Given the description of an element on the screen output the (x, y) to click on. 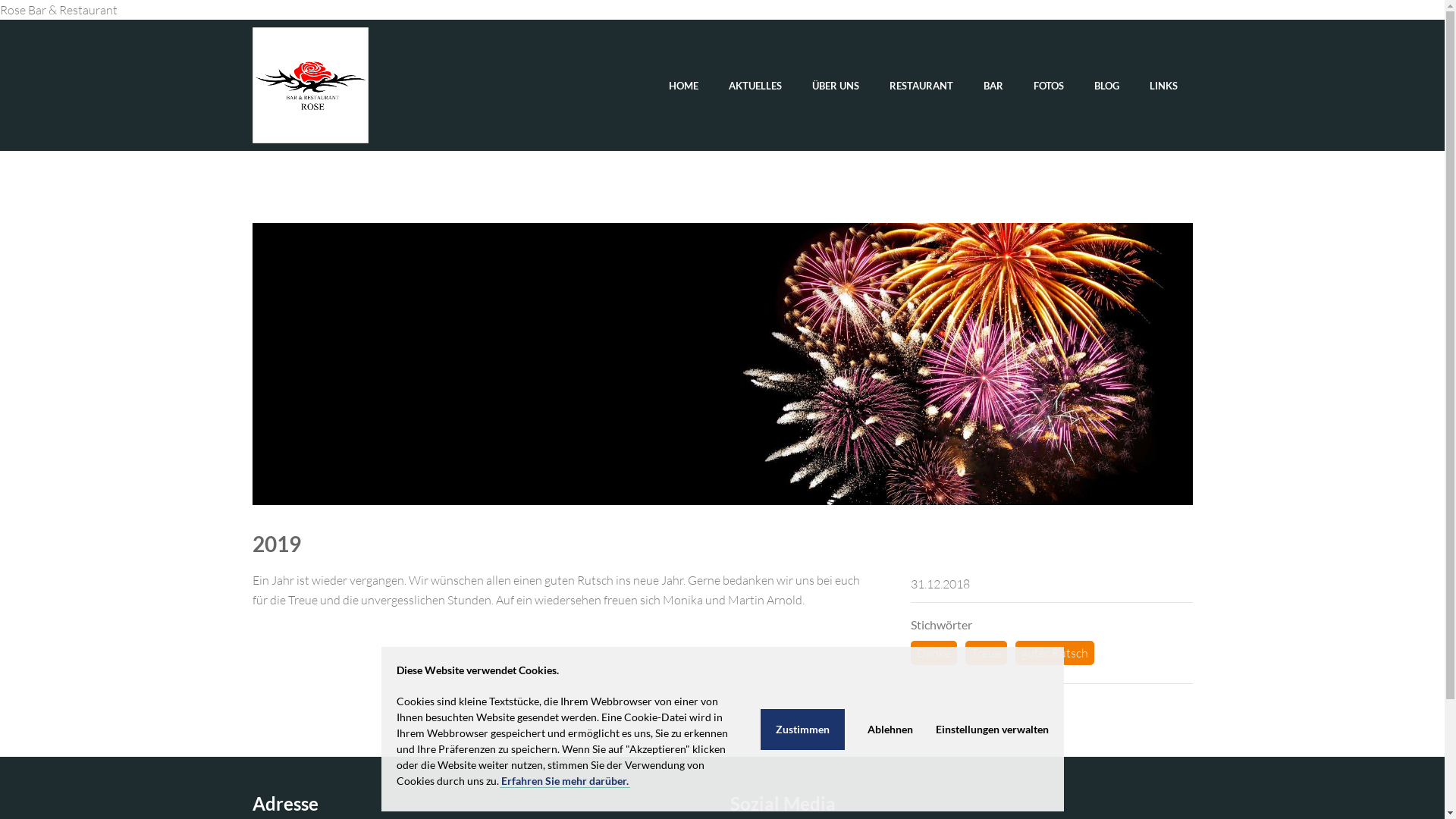
RESTAURANT Element type: text (920, 85)
guter Rutsch Element type: text (1053, 652)
FOTOS Element type: text (1047, 85)
Einstellungen verwalten Element type: text (991, 728)
HOME Element type: text (683, 85)
LINKS Element type: text (1163, 85)
Danke Element type: text (933, 652)
Zustimmen Element type: text (801, 728)
Treue Element type: text (985, 652)
Ablehnen Element type: text (890, 728)
2019 Element type: hover (721, 363)
BAR Element type: text (992, 85)
AKTUELLES Element type: text (754, 85)
BLOG Element type: text (1105, 85)
Rose Bar & Restaurant  Element type: hover (309, 85)
